Given the description of an element on the screen output the (x, y) to click on. 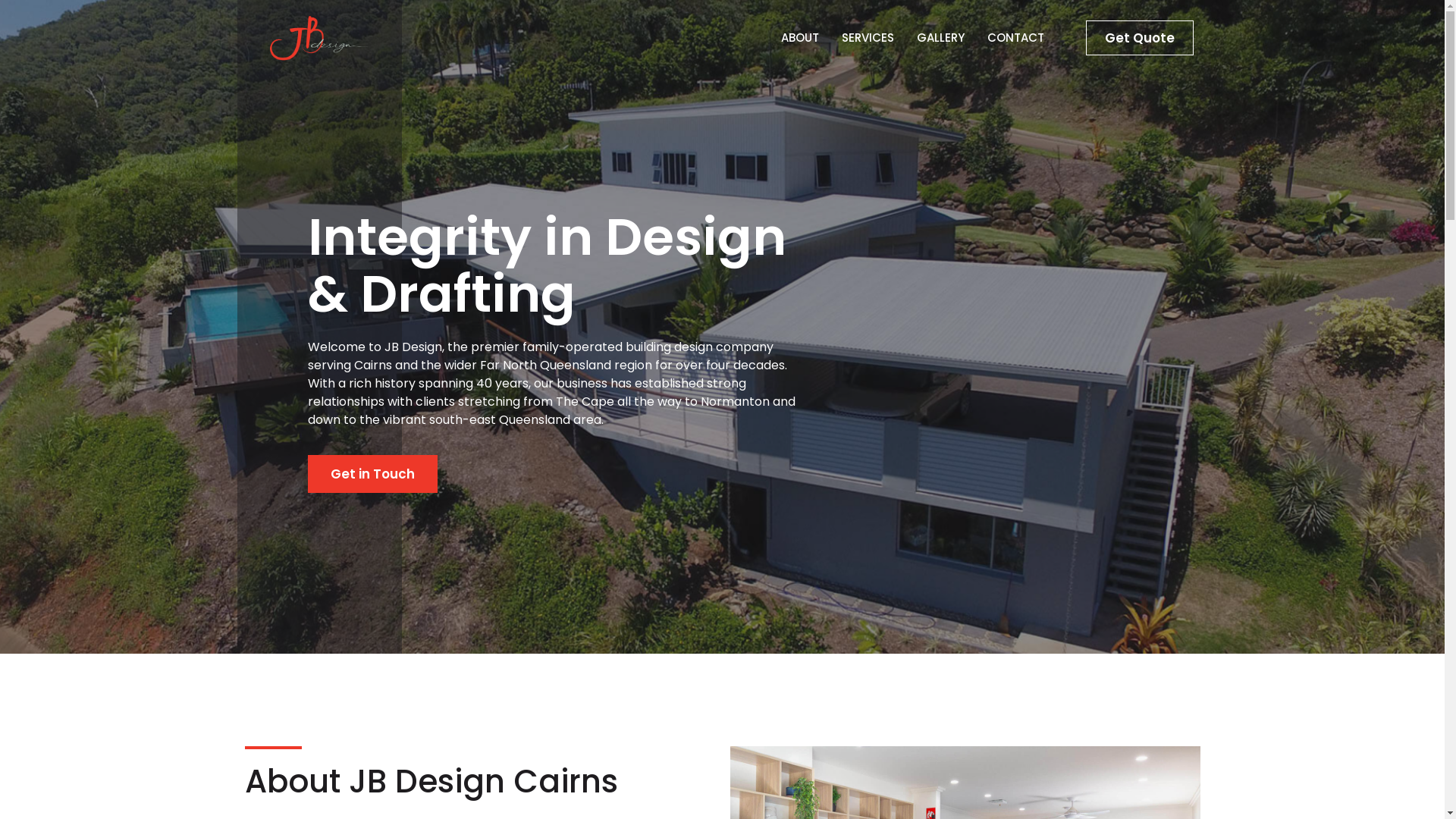
ABOUT Element type: text (799, 37)
Get Quote Element type: text (1139, 37)
CONTACT Element type: text (1015, 37)
Get in Touch Element type: text (372, 473)
SERVICES Element type: text (867, 37)
GALLERY Element type: text (940, 37)
